Given the description of an element on the screen output the (x, y) to click on. 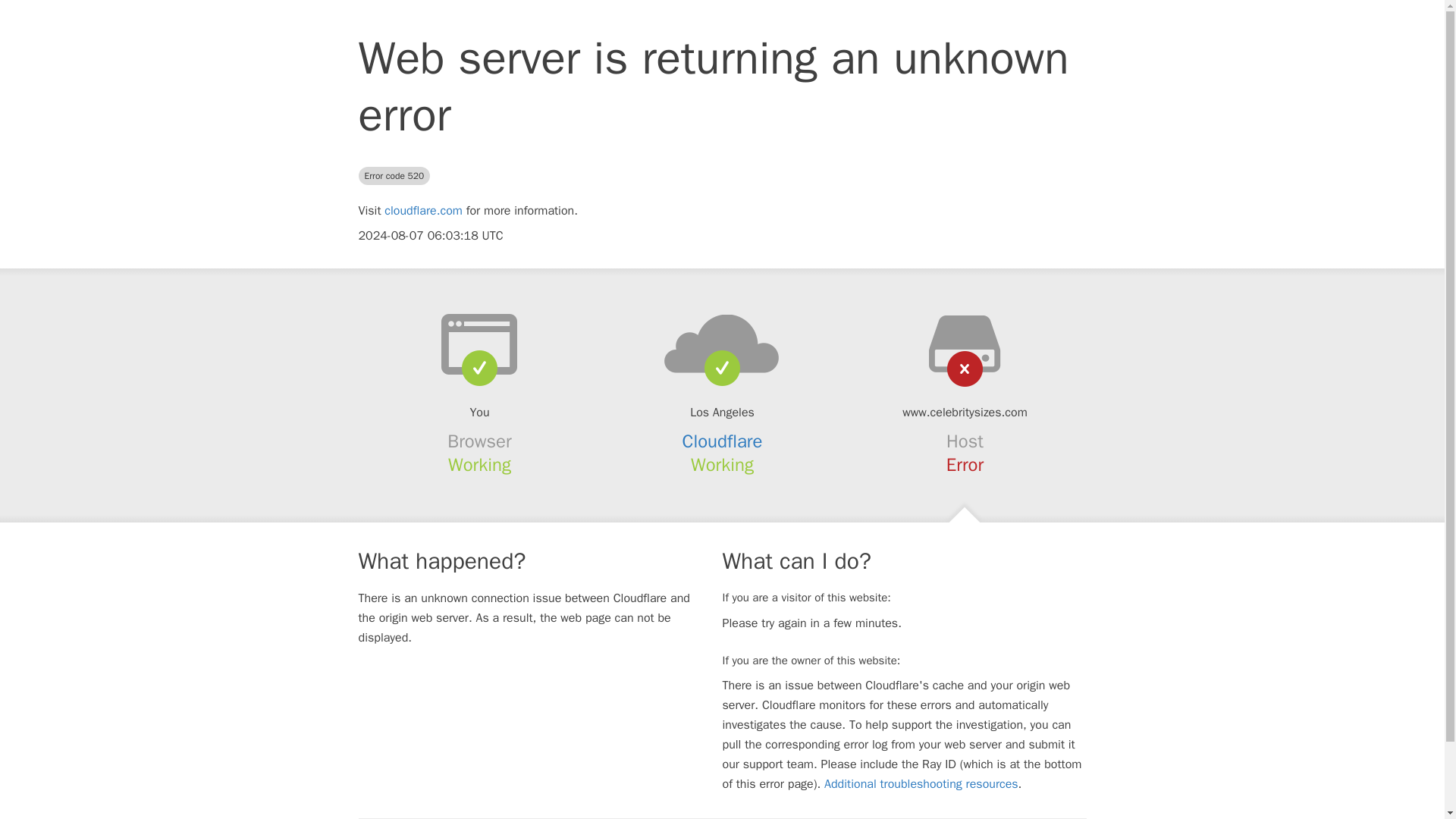
Cloudflare (722, 440)
cloudflare.com (423, 210)
Additional troubleshooting resources (920, 783)
